Given the description of an element on the screen output the (x, y) to click on. 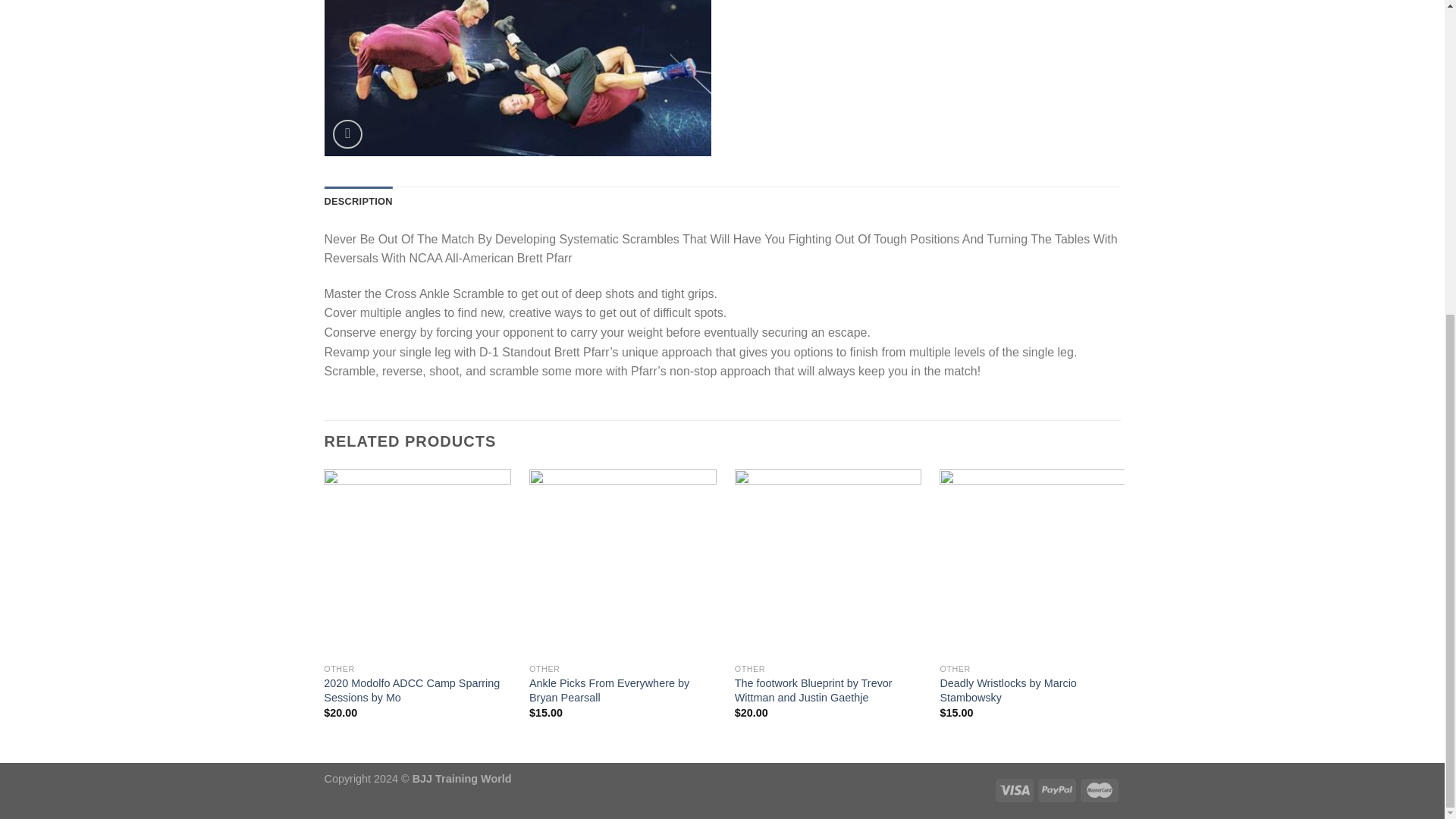
Zoom (347, 134)
DESCRIPTION (358, 201)
2020 Modolfo ADCC Camp Sparring Sessions by Mo (417, 690)
Ankle Picks From Everywhere by Bryan Pearsall (622, 690)
